Given the description of an element on the screen output the (x, y) to click on. 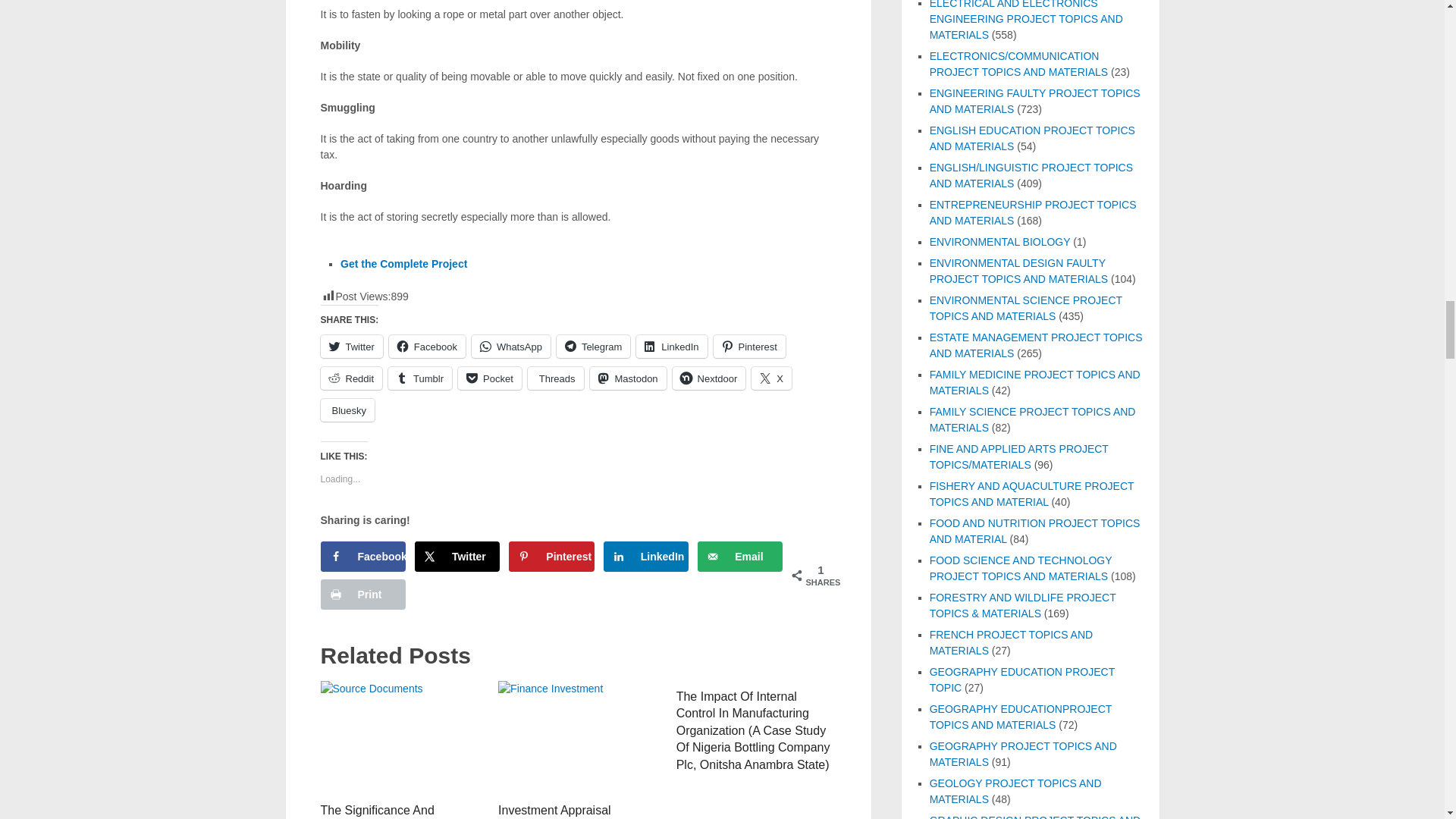
Click to share on Telegram (593, 345)
Click to share on Twitter (350, 345)
Click to share on Tumblr (419, 377)
Click to share on Facebook (426, 345)
Click to share on Pinterest (748, 345)
Click to share on WhatsApp (510, 345)
Click to share on Reddit (350, 377)
Click to share on LinkedIn (671, 345)
Click to share on Threads (555, 377)
Click to share on Pocket (489, 377)
